Given the description of an element on the screen output the (x, y) to click on. 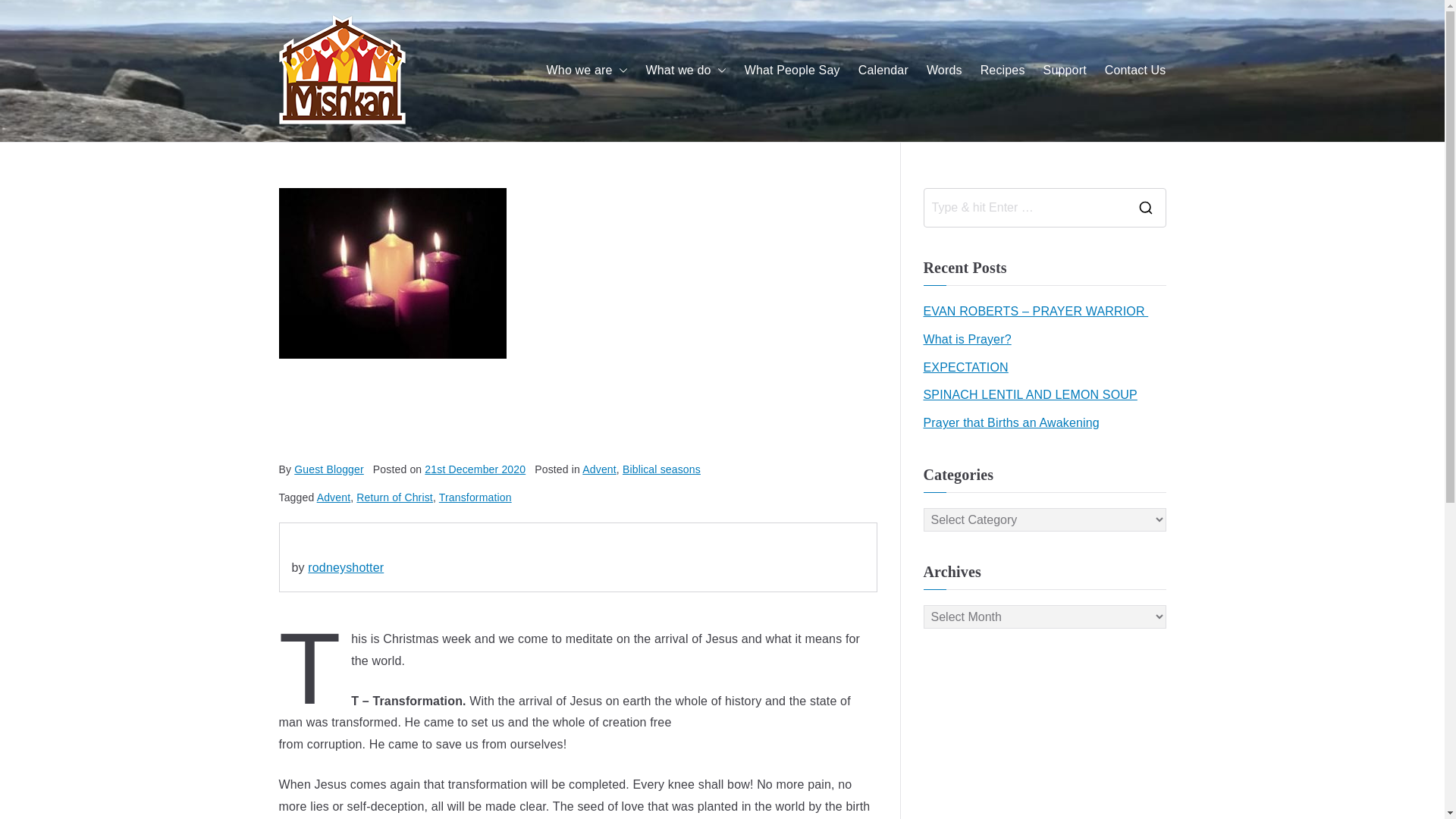
Return of Christ (394, 497)
Support (1064, 70)
Search for: (1024, 207)
Transformation (475, 497)
What People Say (792, 70)
Who we are (587, 70)
Calendar (883, 70)
Advent (333, 497)
Advent (598, 469)
21st December 2020 (475, 469)
